Given the description of an element on the screen output the (x, y) to click on. 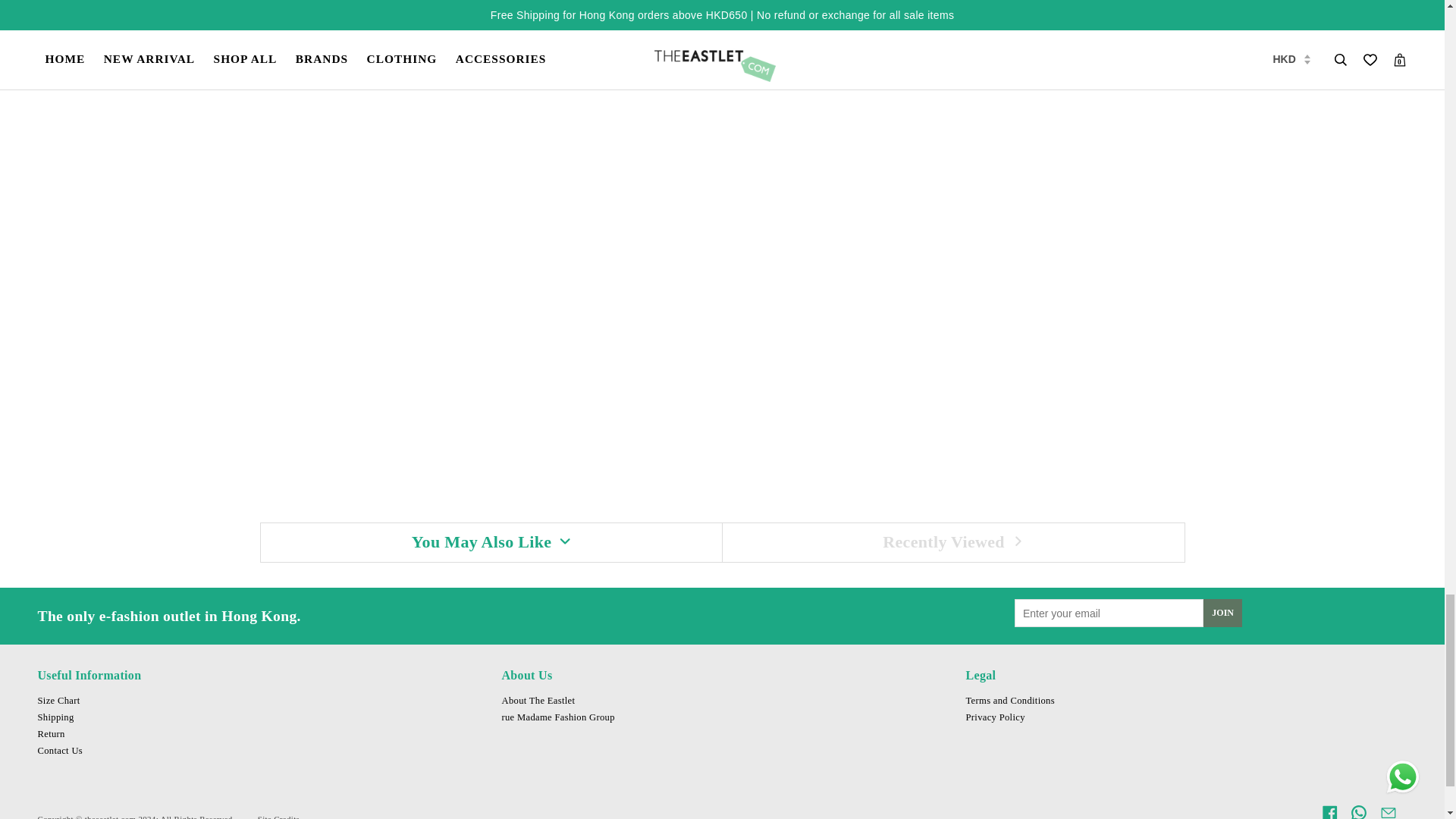
Email (1387, 811)
Facebook (1330, 811)
Whatsapp (1359, 811)
Join (1222, 612)
